Given the description of an element on the screen output the (x, y) to click on. 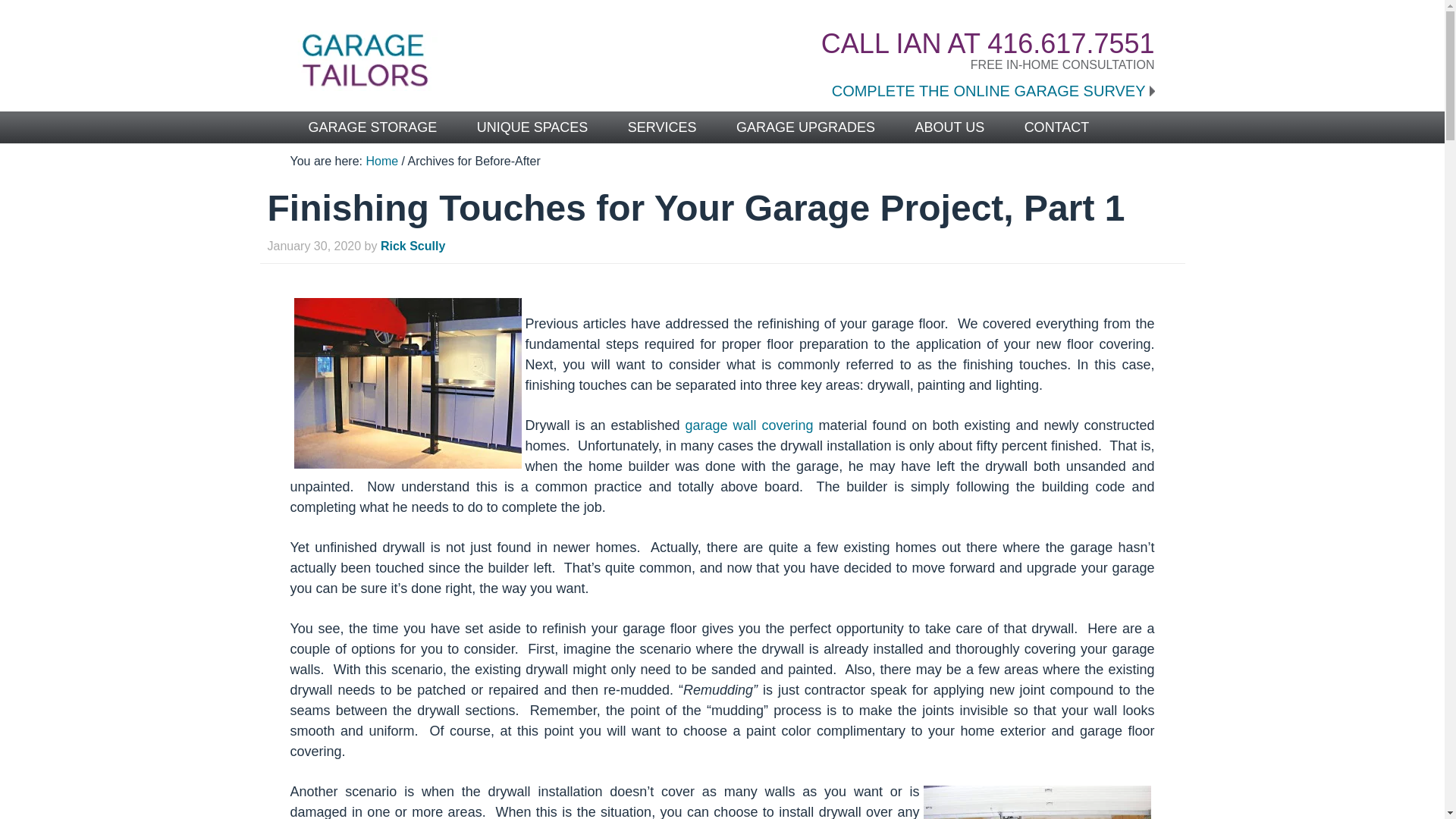
UNIQUE SPACES (532, 126)
garage wall covering (748, 425)
Garage Tailors (486, 60)
GARAGE STORAGE (371, 126)
COMPLETE THE ONLINE GARAGE SURVEY (992, 90)
GARAGE UPGRADES (805, 126)
CALL IAN AT 416.617.7551 (987, 42)
SERVICES (662, 126)
